Given the description of an element on the screen output the (x, y) to click on. 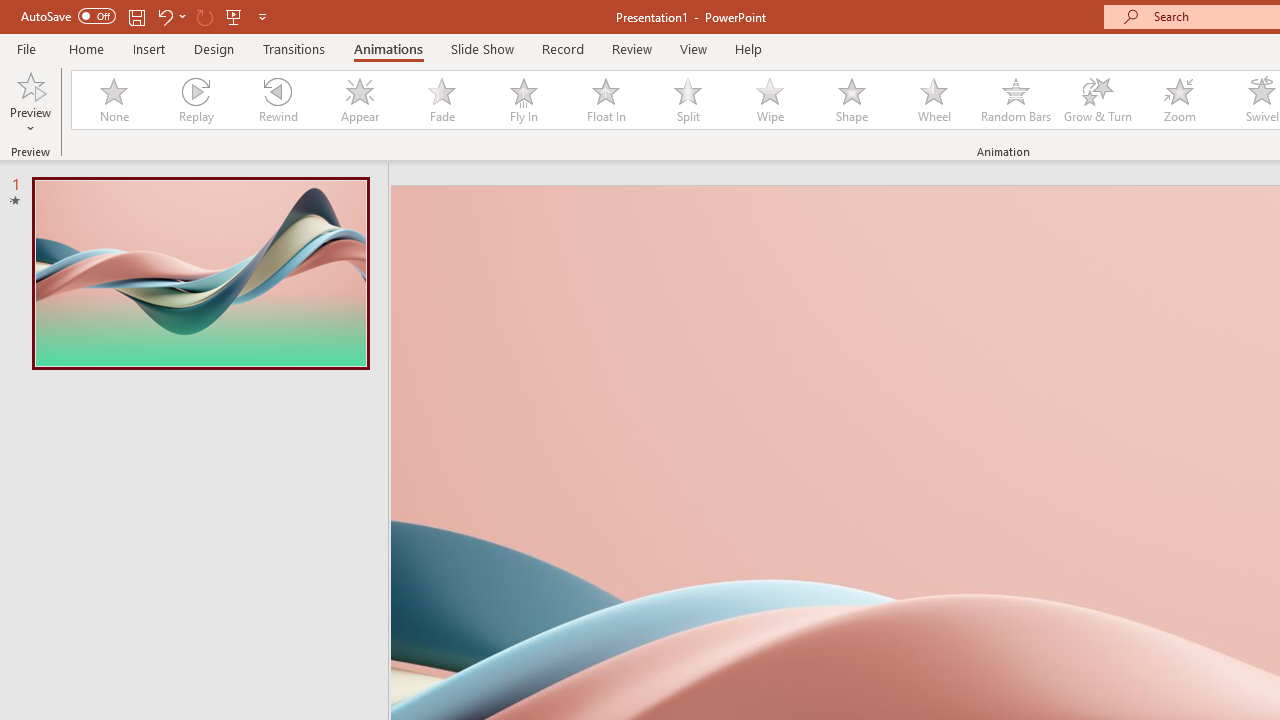
Home (86, 48)
Shape (852, 100)
System (10, 11)
Undo (164, 15)
Redo (204, 15)
Customize Quick Access Toolbar (262, 15)
Wipe (770, 100)
Quick Access Toolbar (145, 16)
Undo (170, 15)
From Beginning (234, 15)
Fade (441, 100)
Slide Show (481, 48)
None (113, 100)
Replay (195, 100)
Review (631, 48)
